Given the description of an element on the screen output the (x, y) to click on. 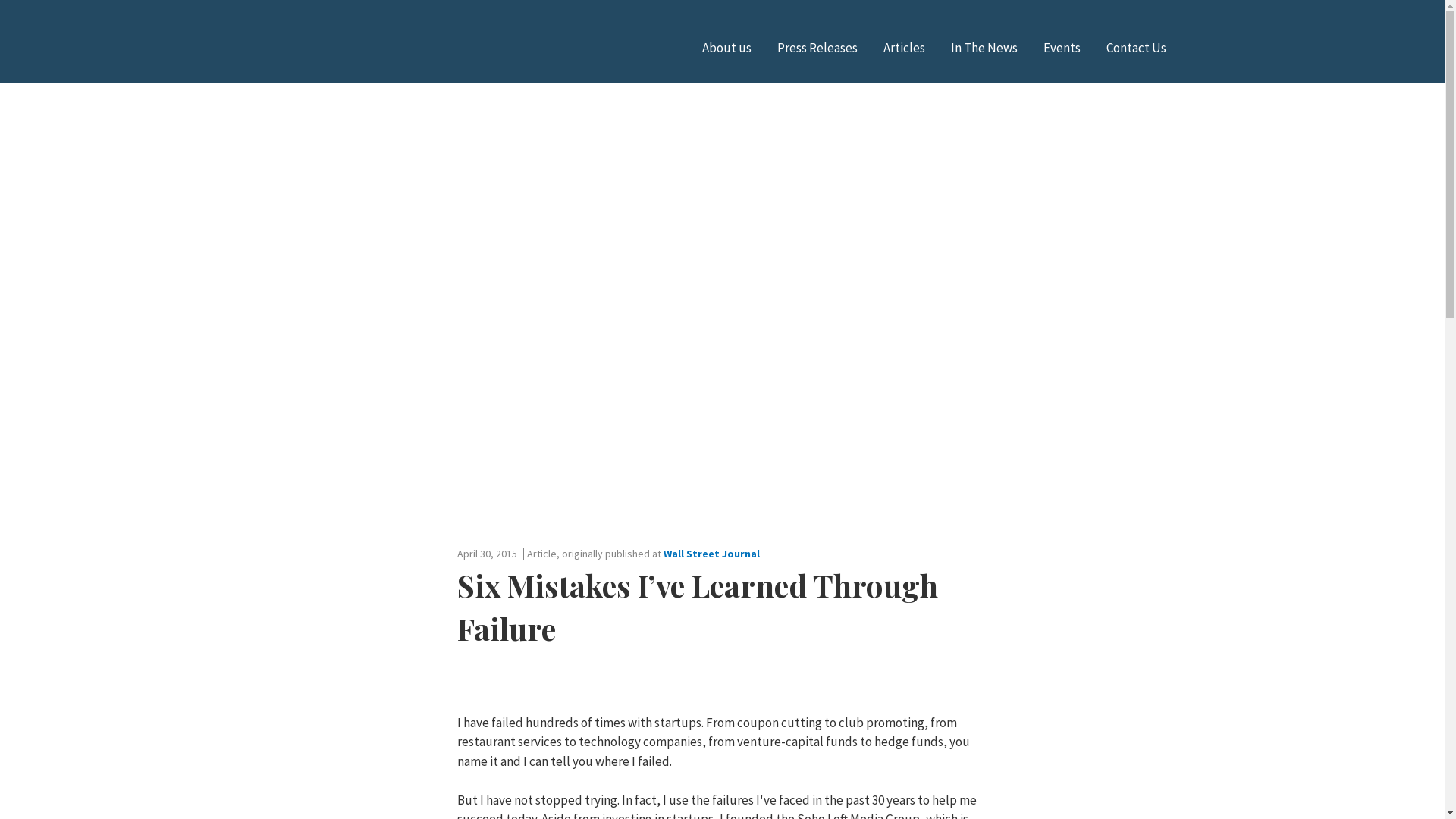
Press Releases (816, 47)
Wall Street Journal (710, 553)
In The News (983, 47)
Articles (903, 47)
About us (726, 47)
Events (1061, 47)
Contact Us (1135, 47)
